Given the description of an element on the screen output the (x, y) to click on. 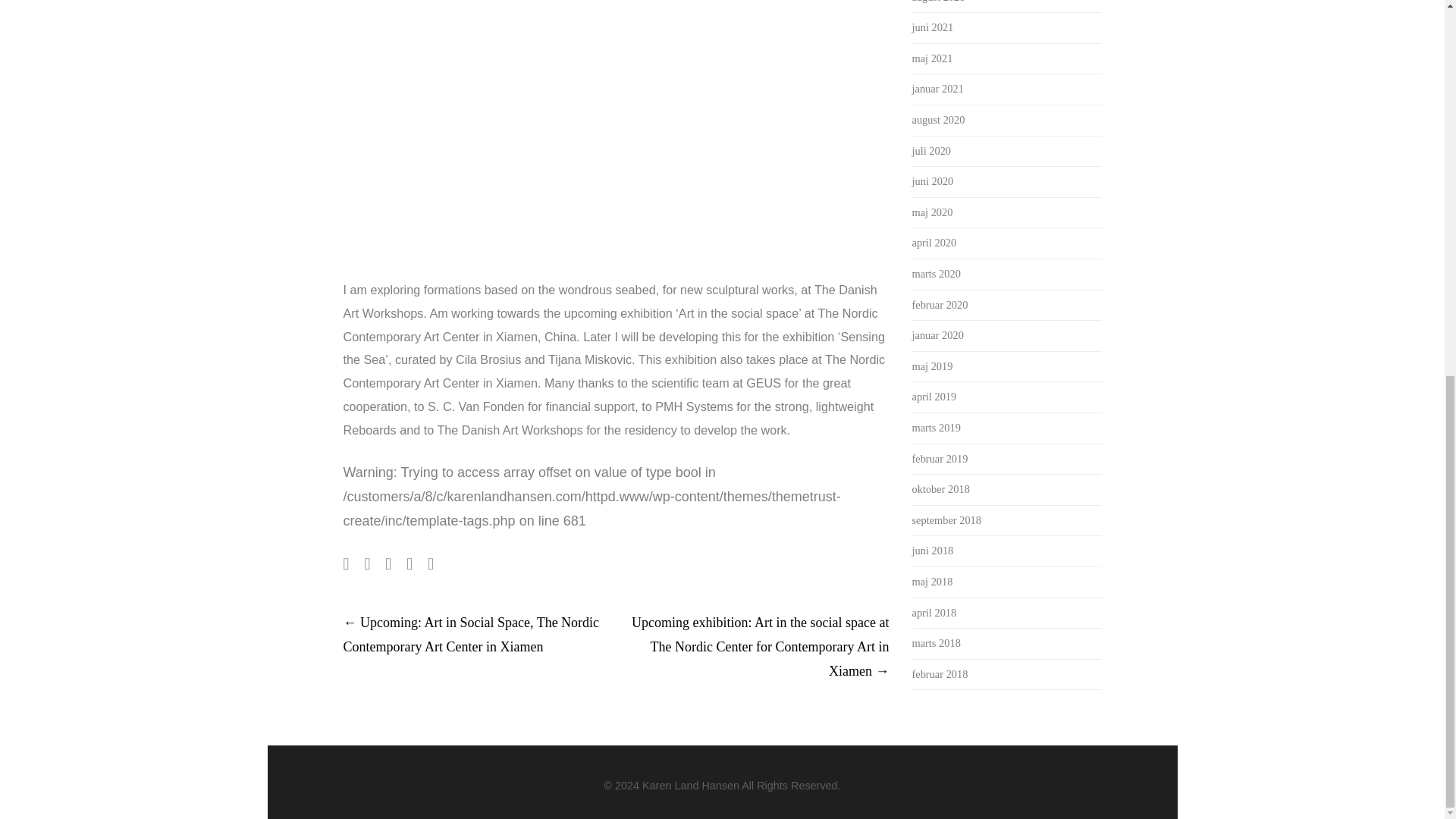
august 2021 (937, 1)
